Given the description of an element on the screen output the (x, y) to click on. 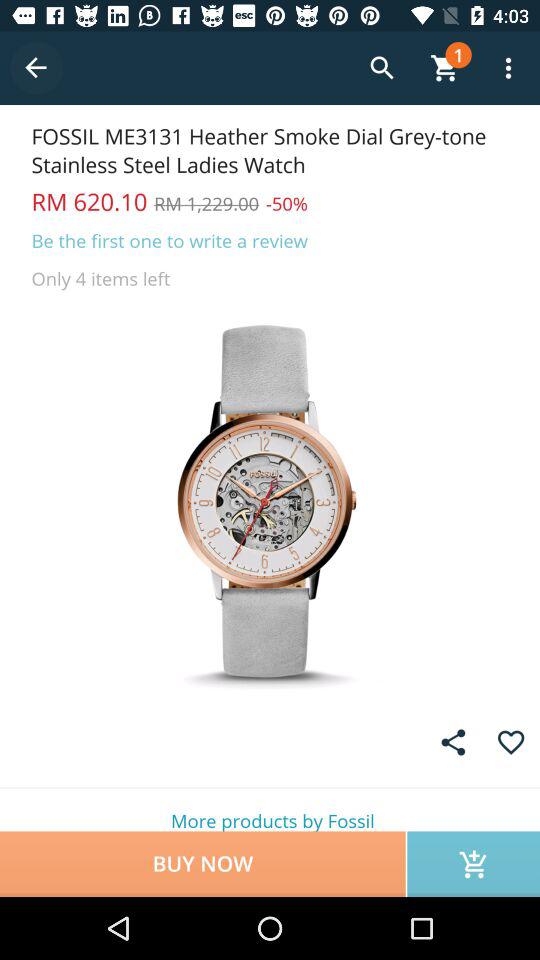
turn on the item above buy now item (270, 809)
